Given the description of an element on the screen output the (x, y) to click on. 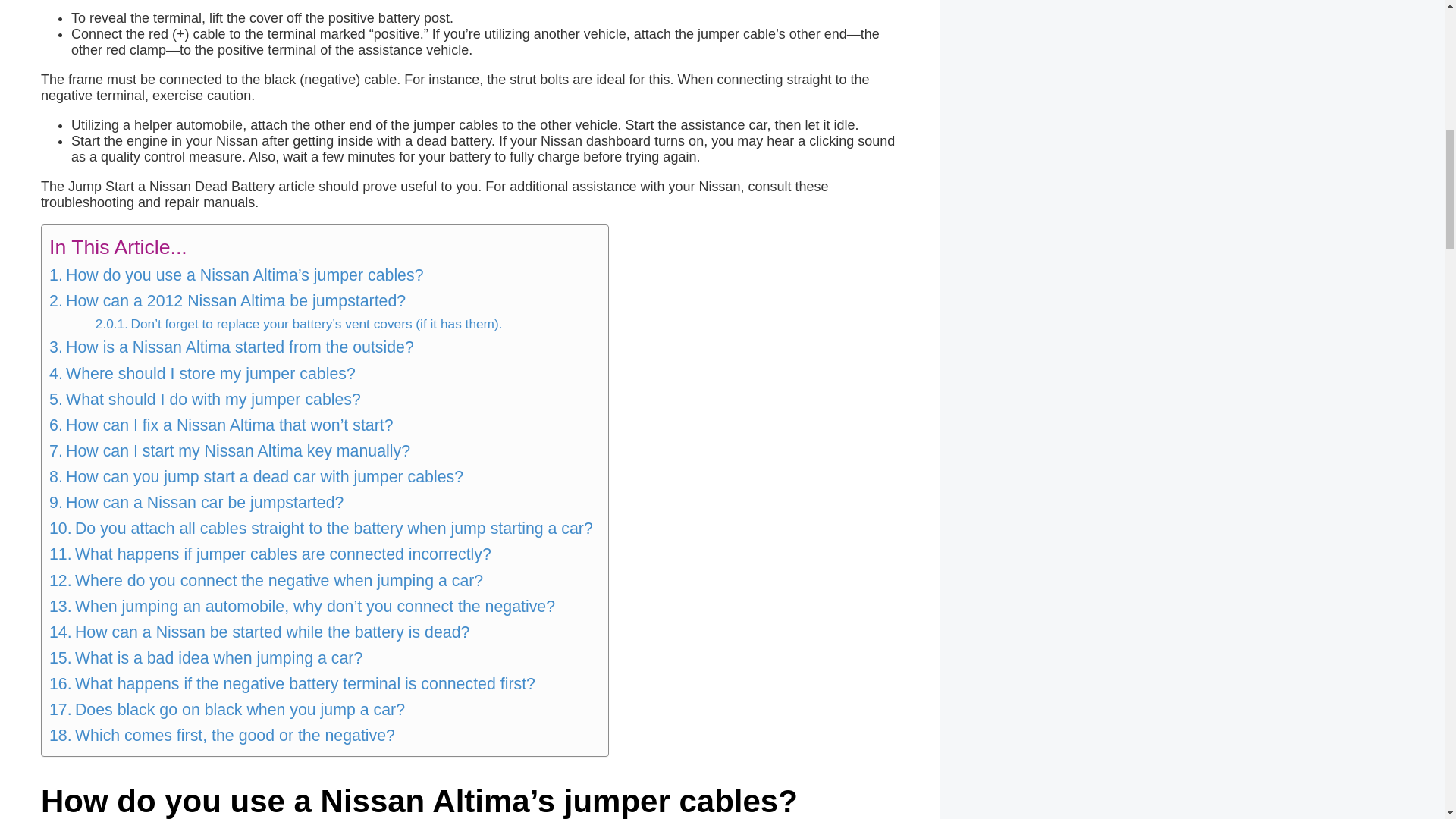
Where should I store my jumper cables? (202, 373)
How is a Nissan Altima started from the outside? (231, 347)
Does black go on black when you jump a car? (226, 709)
How can you jump start a dead car with jumper cables? (256, 476)
Where do you connect the negative when jumping a car? (266, 580)
How can I start my Nissan Altima key manually? (229, 451)
What should I do with my jumper cables? (205, 399)
What happens if jumper cables are connected incorrectly? (270, 554)
Which comes first, the good or the negative? (221, 735)
How can you jump start a dead car with jumper cables? (256, 476)
How is a Nissan Altima started from the outside? (231, 347)
How can a 2012 Nissan Altima be jumpstarted? (227, 300)
